Given the description of an element on the screen output the (x, y) to click on. 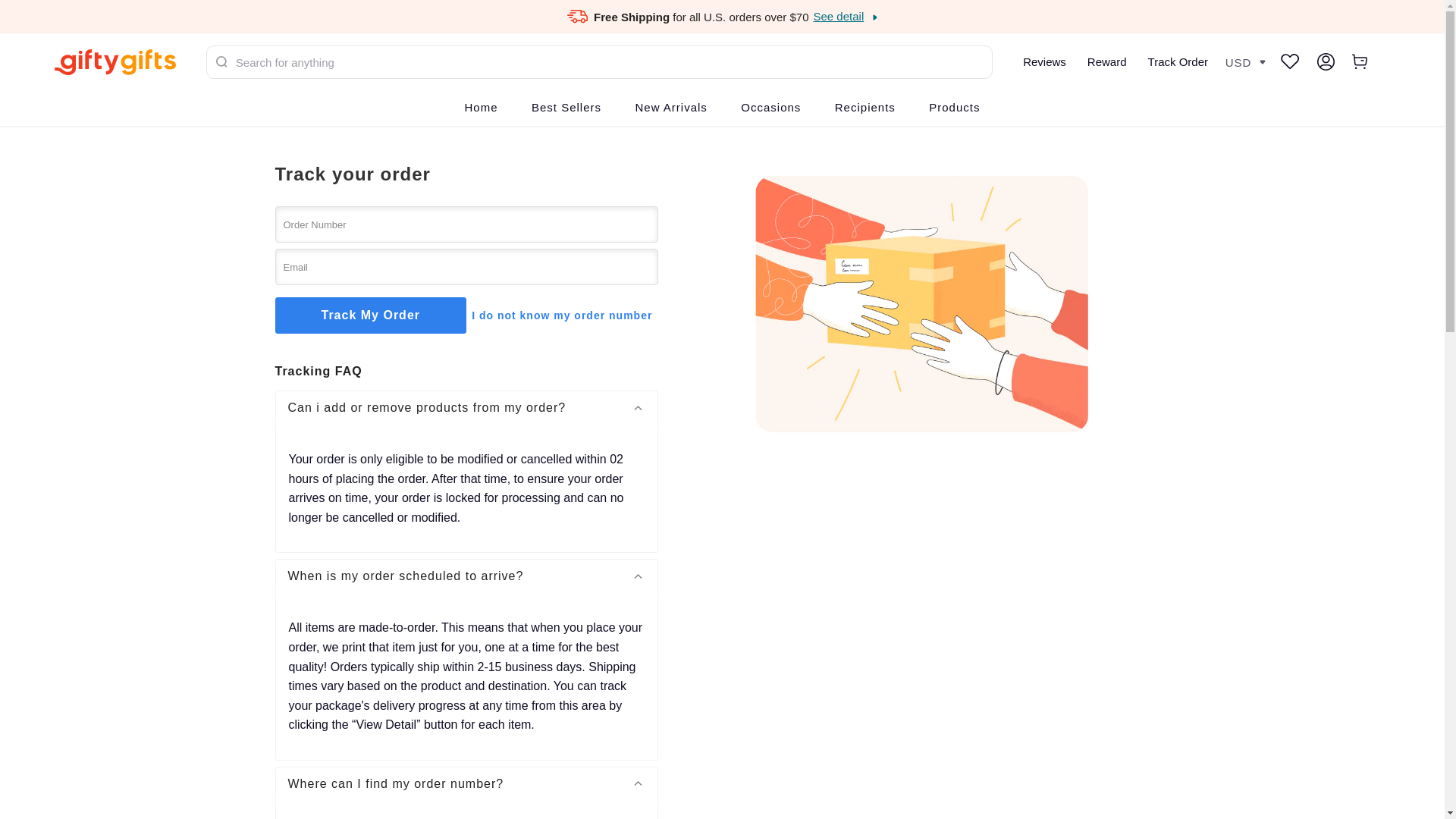
Products (953, 108)
See detail (845, 16)
New Arrivals (670, 108)
Home (480, 108)
Best Sellers (566, 108)
Reviews (1044, 61)
Occasions (770, 108)
Track Order (1178, 61)
Recipients (864, 108)
Reward (1106, 61)
